Given the description of an element on the screen output the (x, y) to click on. 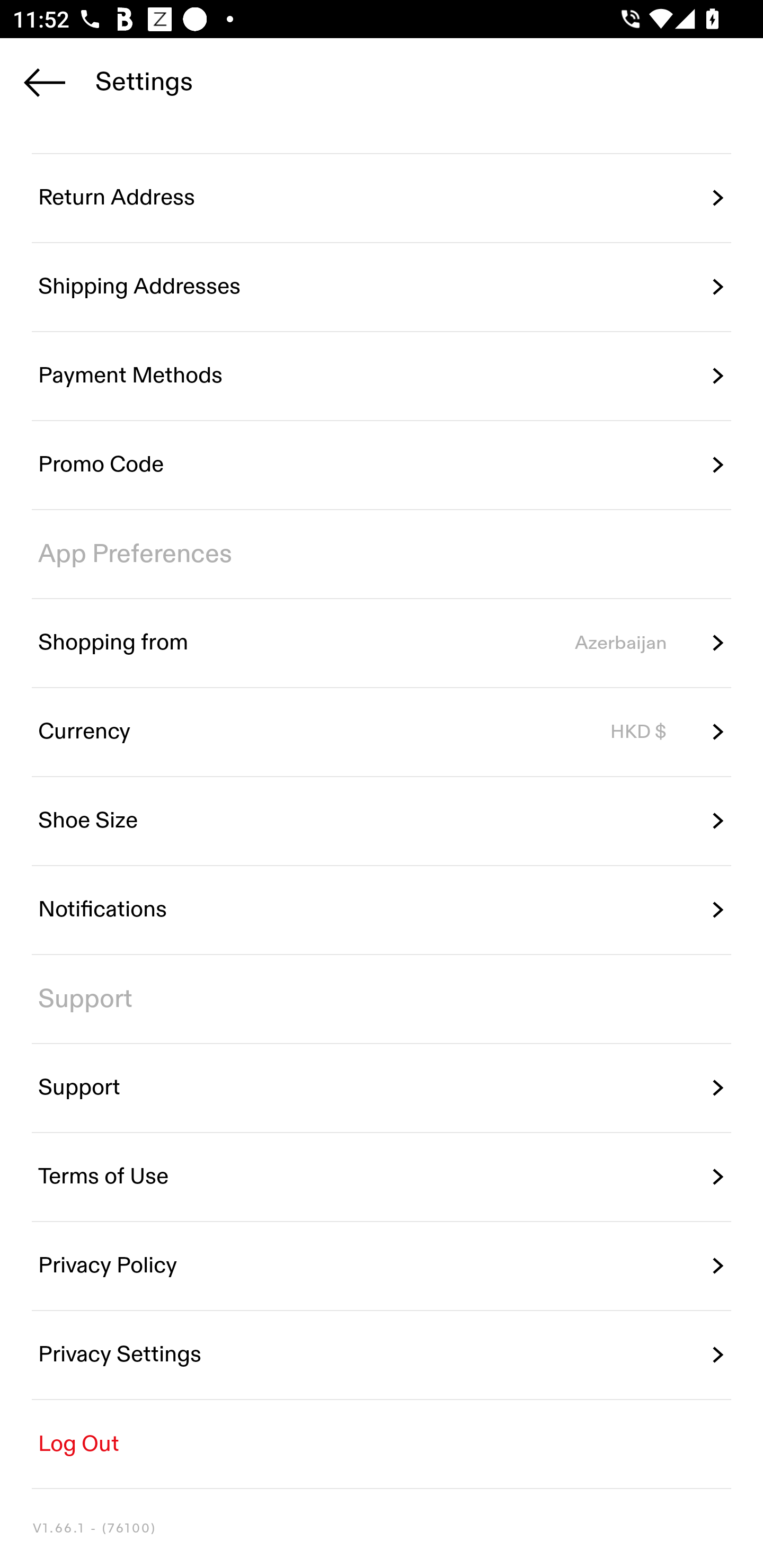
Navigate up (44, 82)
Return Address (381, 198)
Shipping Addresses (381, 286)
Payment Methods (381, 375)
Promo Code (381, 464)
Shopping from Azerbaijan (381, 643)
Currency HKD $ (381, 732)
Shoe Size (381, 820)
Notifications (381, 909)
Support (381, 1088)
Terms of Use (381, 1176)
Privacy Policy (381, 1265)
Privacy Settings (381, 1355)
Log Out (381, 1444)
